Given the description of an element on the screen output the (x, y) to click on. 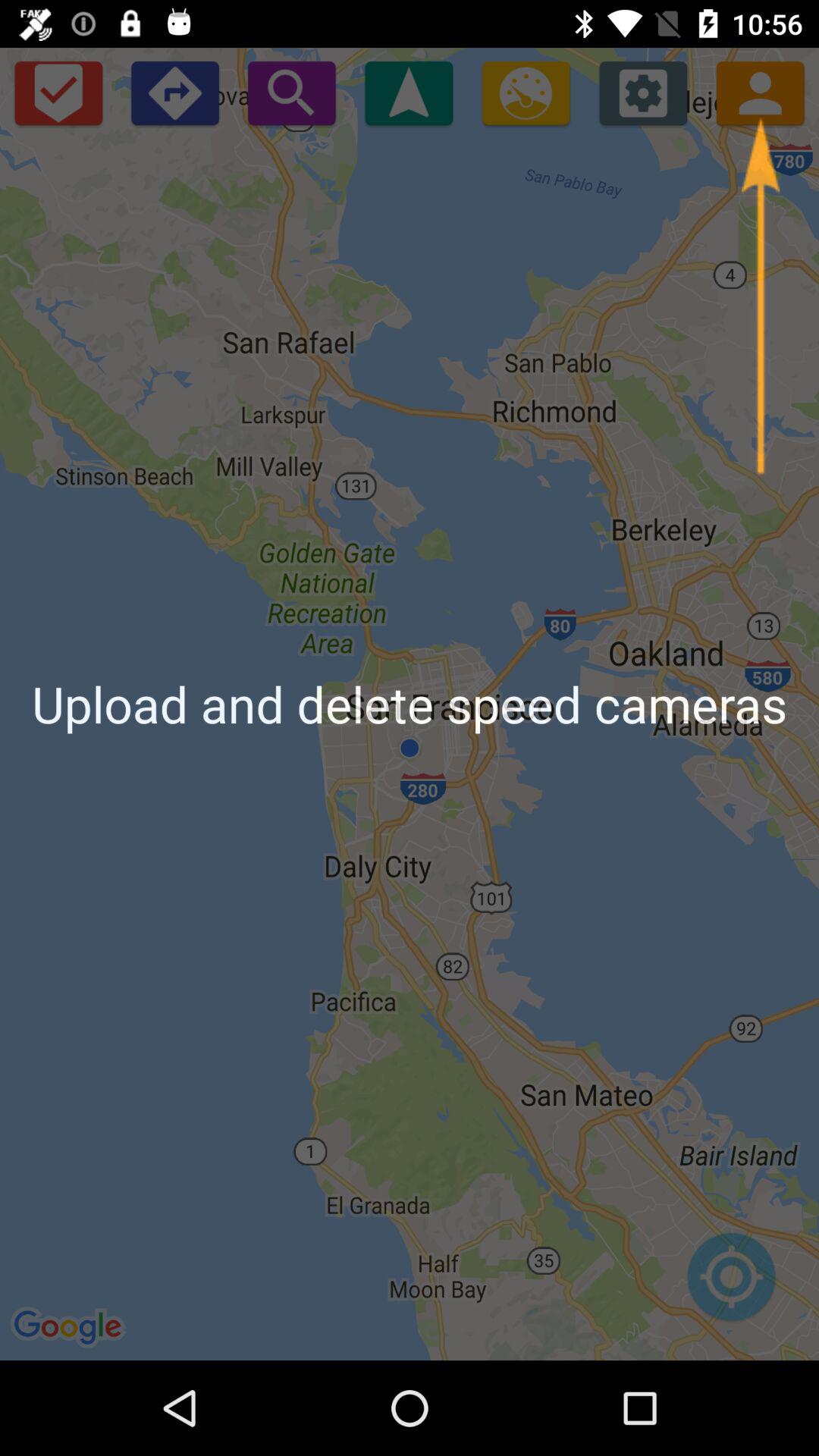
set location (731, 1284)
